Given the description of an element on the screen output the (x, y) to click on. 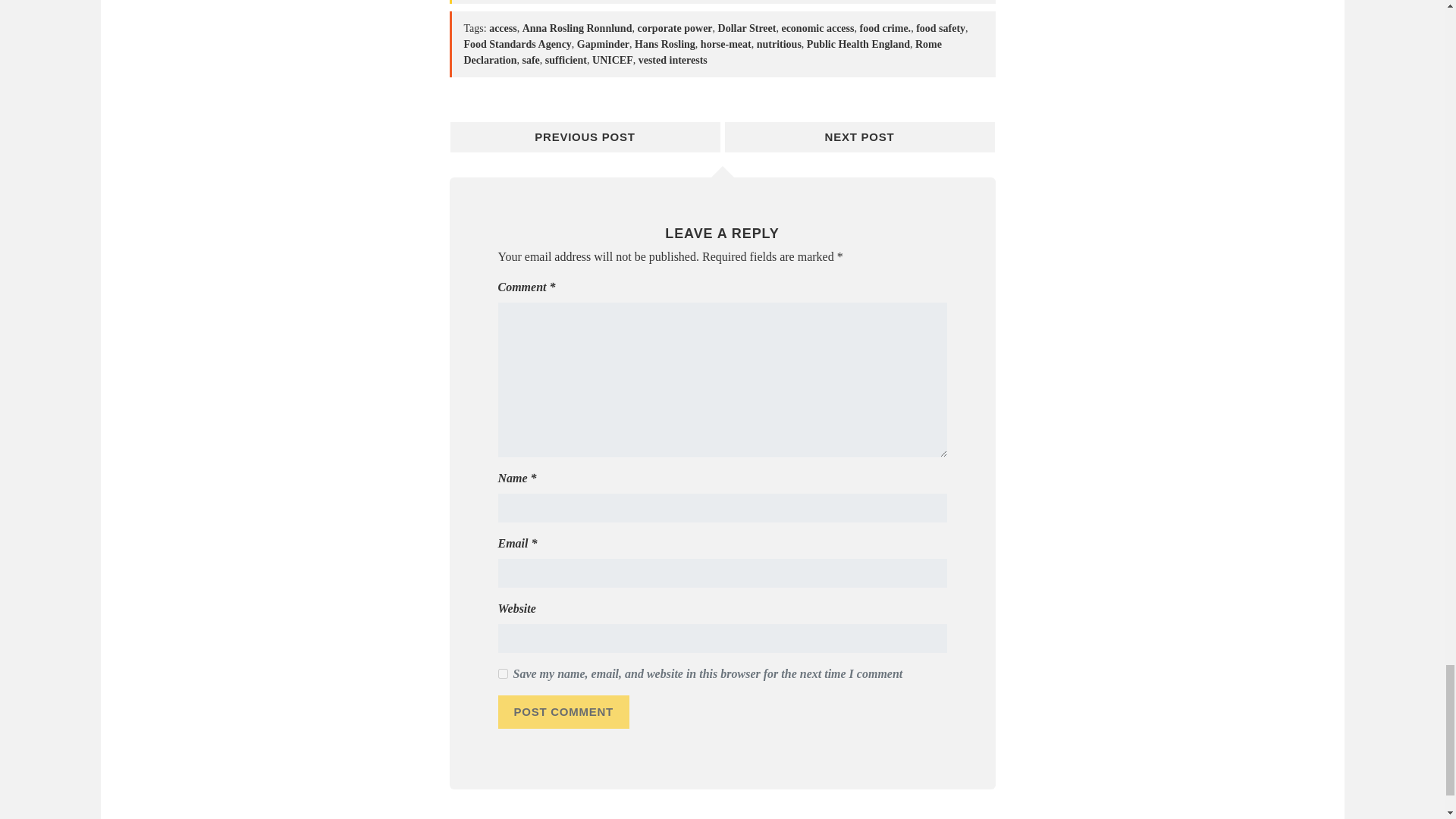
yes (501, 673)
Post Comment (562, 711)
